Given the description of an element on the screen output the (x, y) to click on. 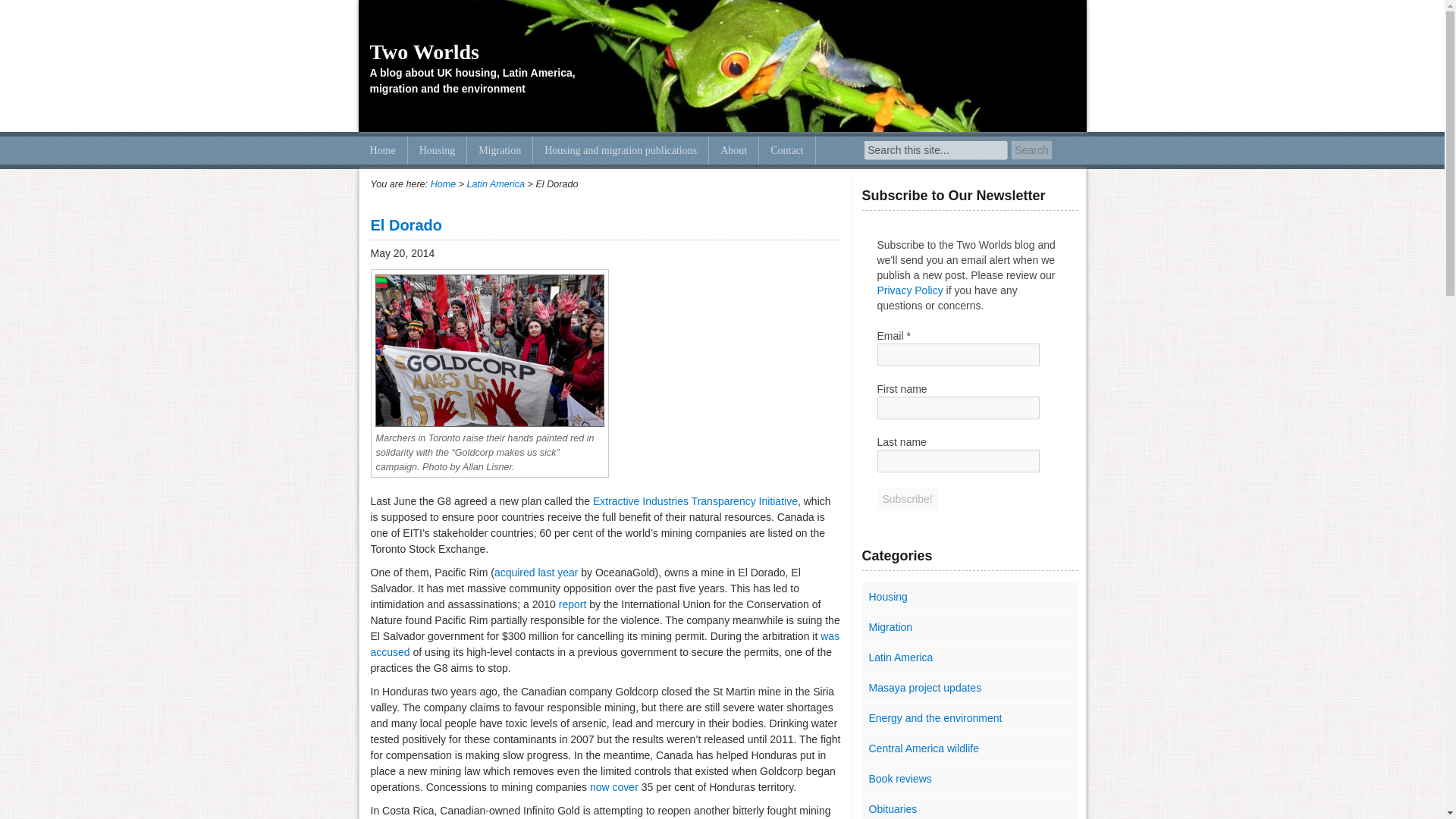
Search (1030, 149)
El Dorado (405, 225)
Search (1030, 149)
Latin America (969, 657)
Last name (957, 460)
Housing (437, 150)
Home (382, 150)
Latin America (496, 184)
now cover (614, 787)
Search (1030, 149)
Search this site... (935, 149)
Two Worlds (443, 184)
Migration (499, 150)
About (733, 150)
report (572, 604)
